Given the description of an element on the screen output the (x, y) to click on. 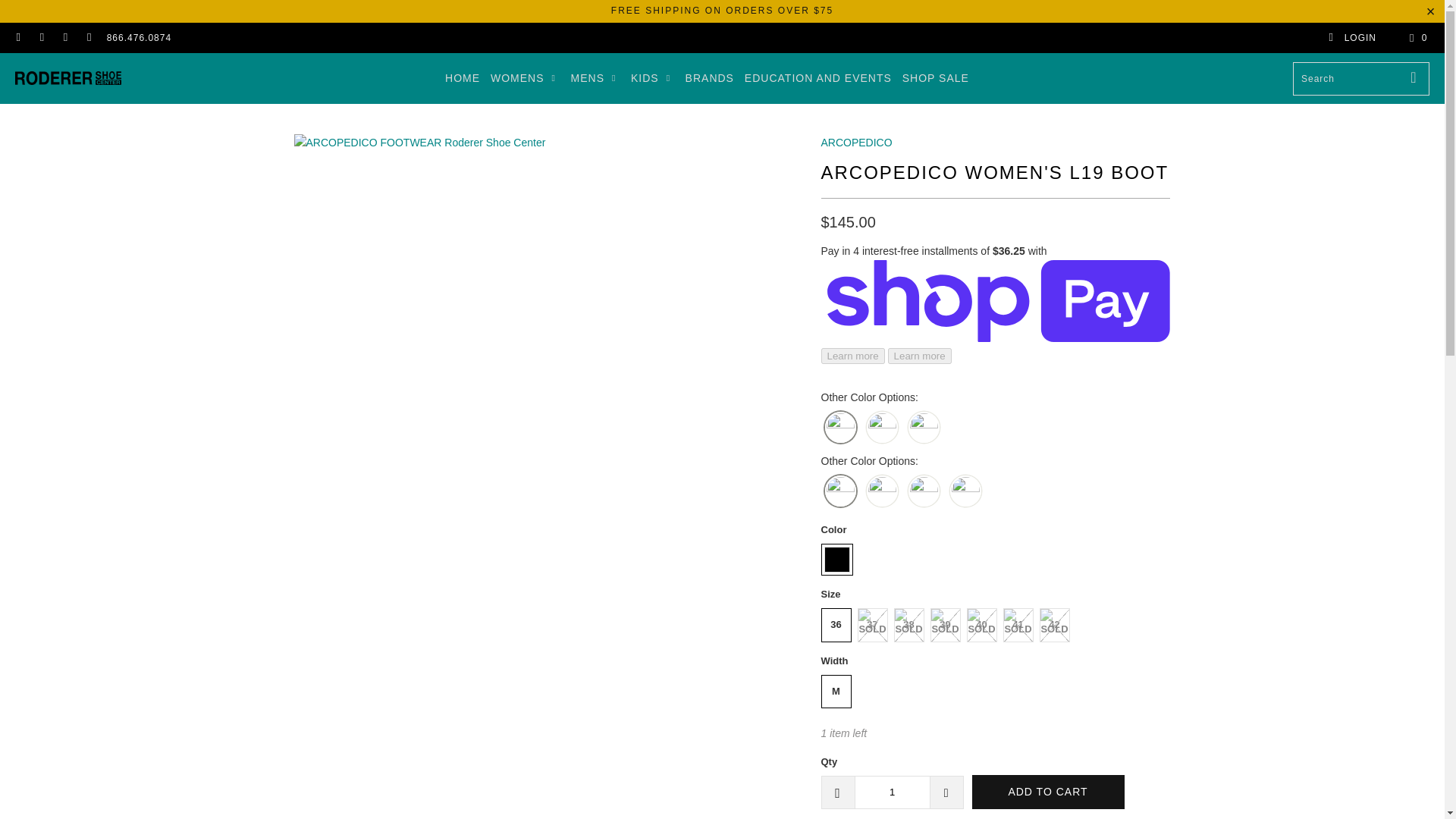
Email Roderer Shoe Center (87, 37)
1 (891, 792)
Roderer Shoe Center on LinkedIn (64, 37)
Roderer Shoe Center on Instagram (41, 37)
ARCOPEDICO (856, 142)
Roderer Shoe Center (67, 78)
My Account  (1351, 37)
Roderer Shoe Center on Facebook (17, 37)
